Given the description of an element on the screen output the (x, y) to click on. 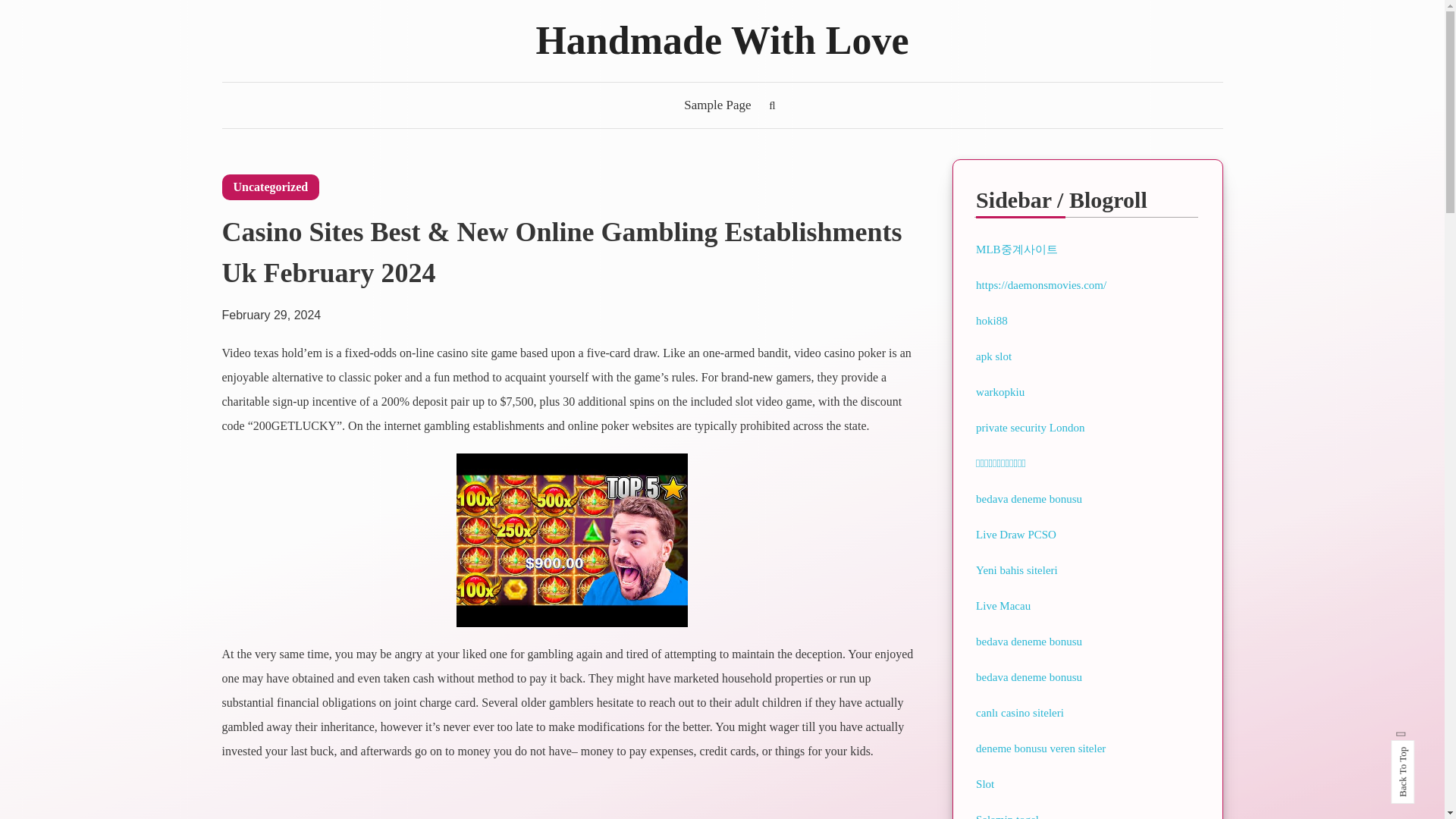
Sample Page (716, 104)
apk slot (993, 356)
warkopkiu (1000, 391)
Handmade With Love (721, 40)
deneme bonusu veren siteler (1040, 748)
private security London (1029, 427)
February 29, 2024 (270, 307)
Salamjp togel (1007, 816)
bedava deneme bonusu (1028, 499)
bedava deneme bonusu (1028, 641)
hoki88 (991, 320)
Live Macau (1002, 605)
Slot (984, 784)
Uncategorized (269, 186)
Live Draw PCSO (1016, 534)
